Given the description of an element on the screen output the (x, y) to click on. 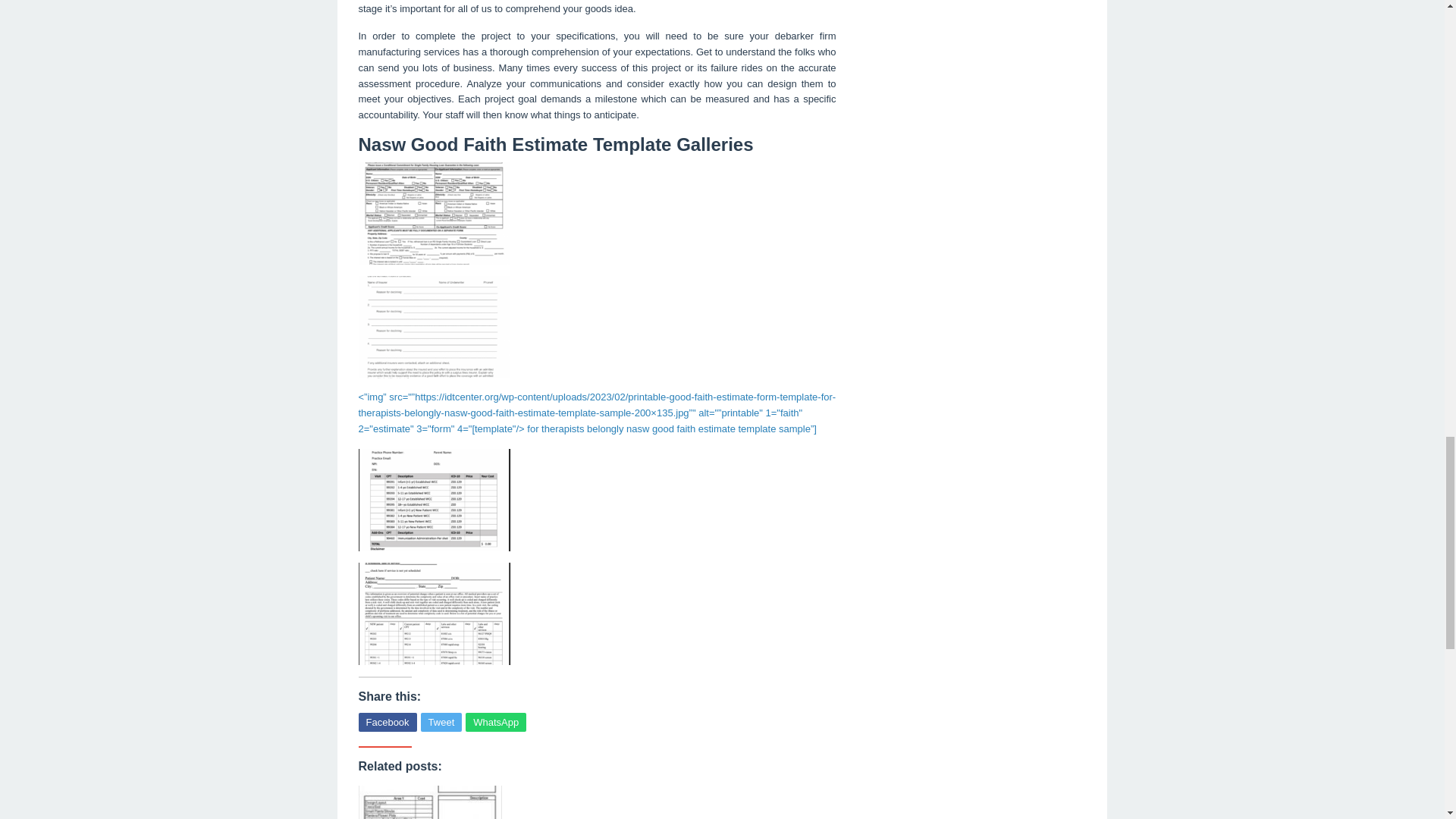
WhatsApp this (495, 722)
Tweet (441, 722)
Facebook (387, 722)
WhatsApp (495, 722)
Permalink to: Small Business Estimate Template (430, 802)
Share this (387, 722)
Tweet this (441, 722)
